Given the description of an element on the screen output the (x, y) to click on. 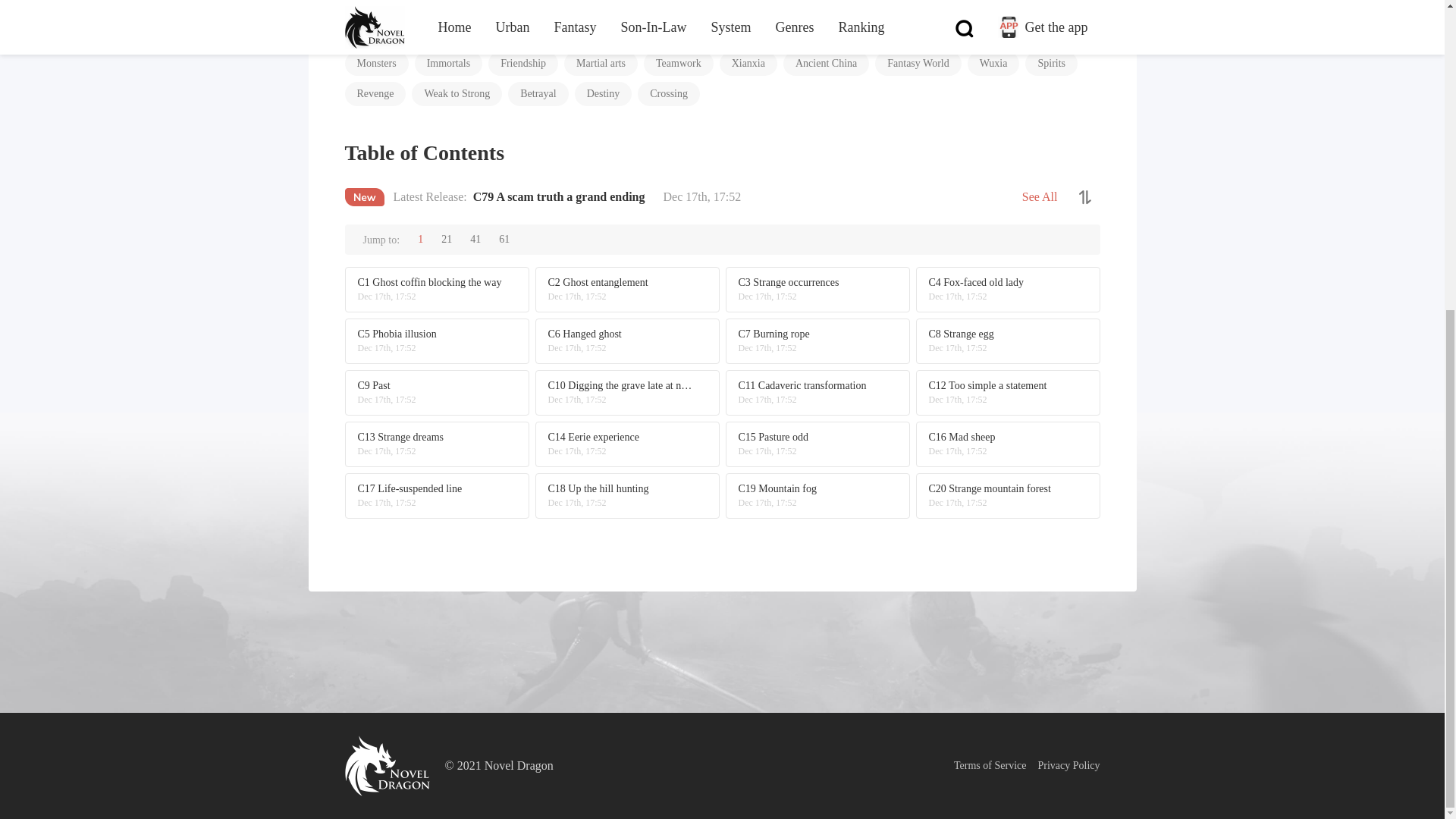
Tragic Past (478, 33)
Fantasy (765, 33)
Weak to Strong (457, 93)
Ancient China (826, 63)
Betrayal (537, 93)
Saint (1012, 33)
Immortals (448, 63)
Martial arts (600, 63)
Monsters (375, 63)
Friendship (522, 63)
